Given the description of an element on the screen output the (x, y) to click on. 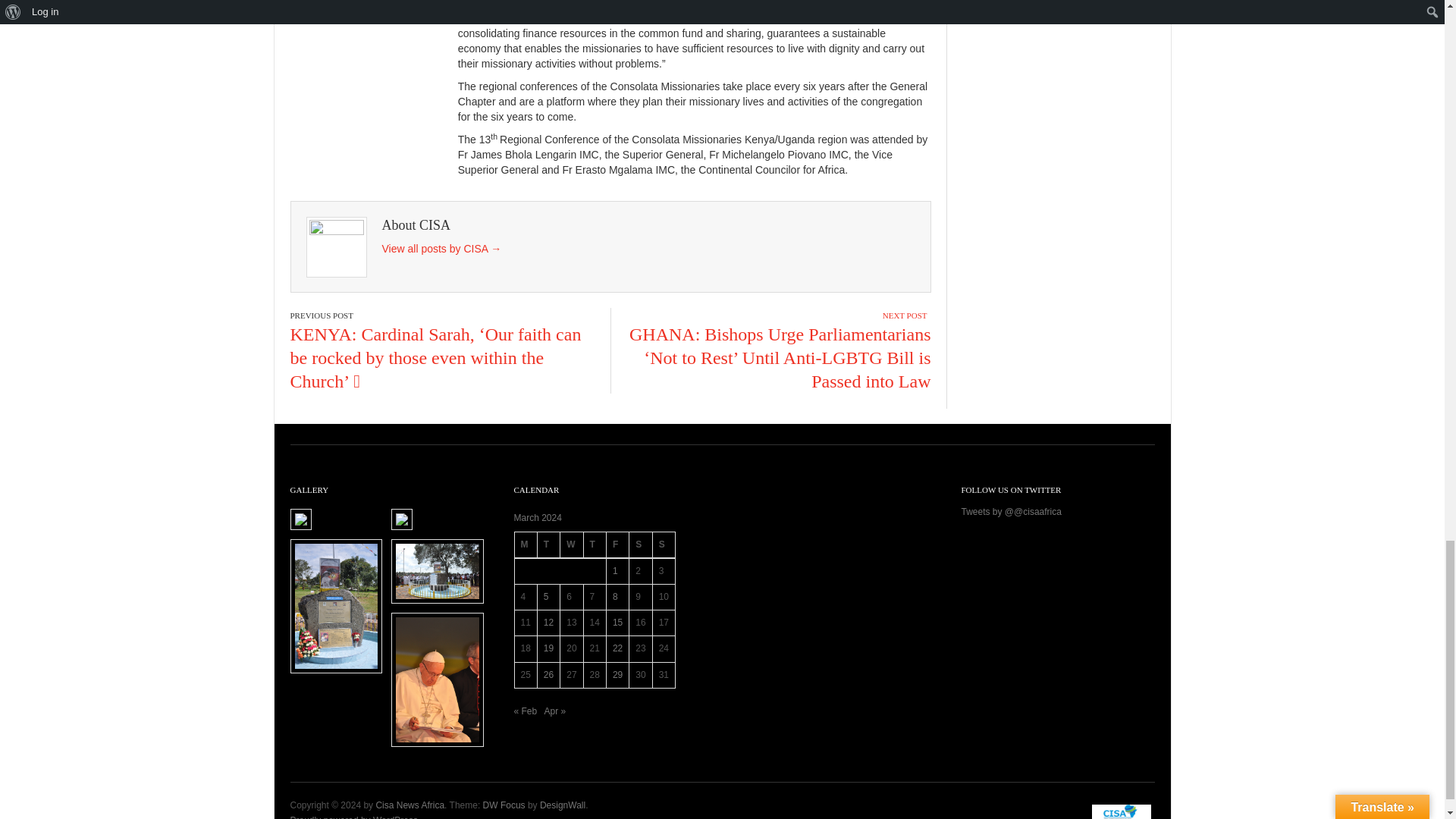
Tuesday (548, 544)
Monday (525, 544)
Thursday (594, 544)
WordPress News Theme (504, 805)
Saturday (640, 544)
Wednesday (571, 544)
Friday (616, 544)
Sunday (663, 544)
